Given the description of an element on the screen output the (x, y) to click on. 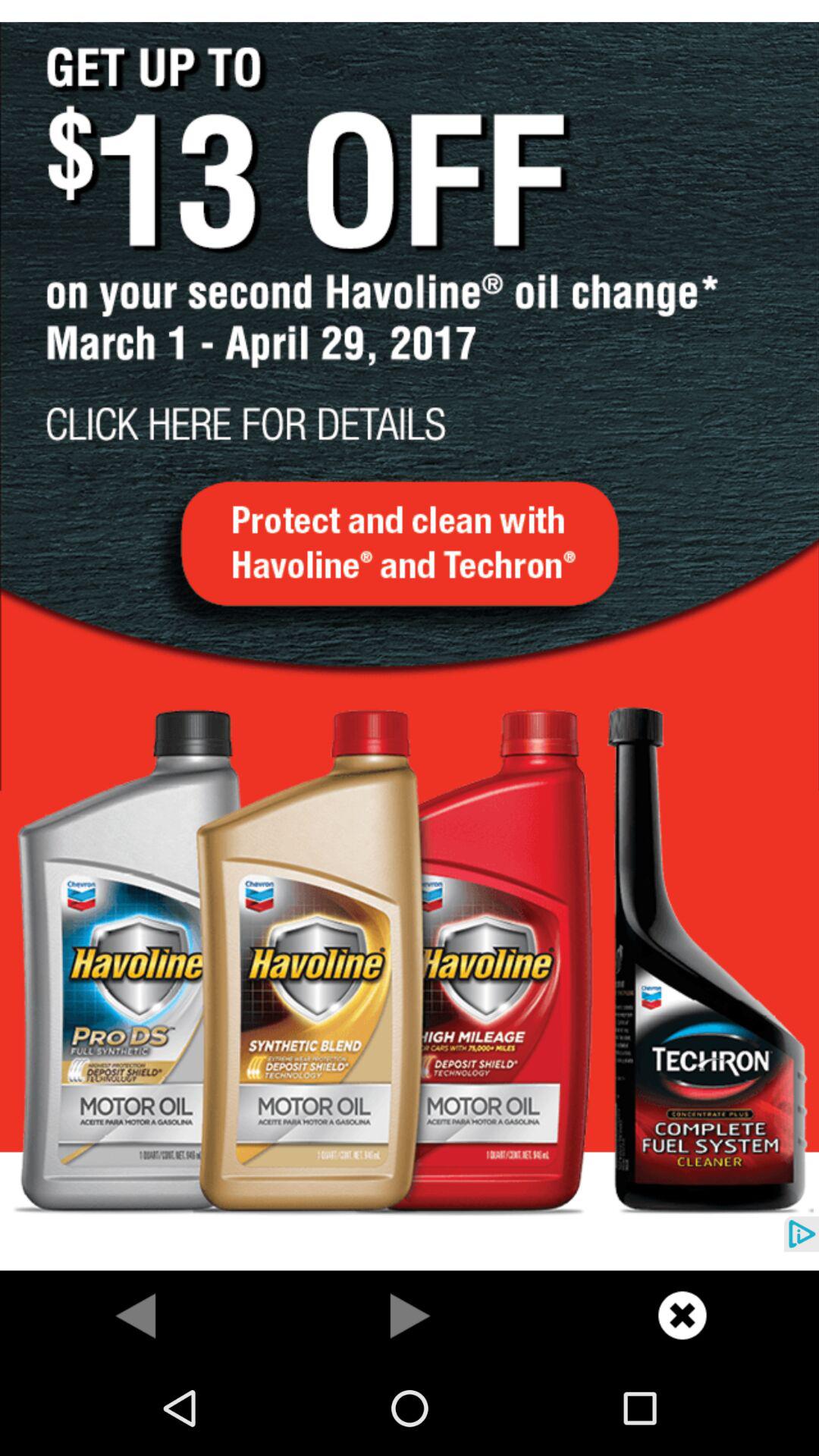
go to previous (136, 1315)
